Given the description of an element on the screen output the (x, y) to click on. 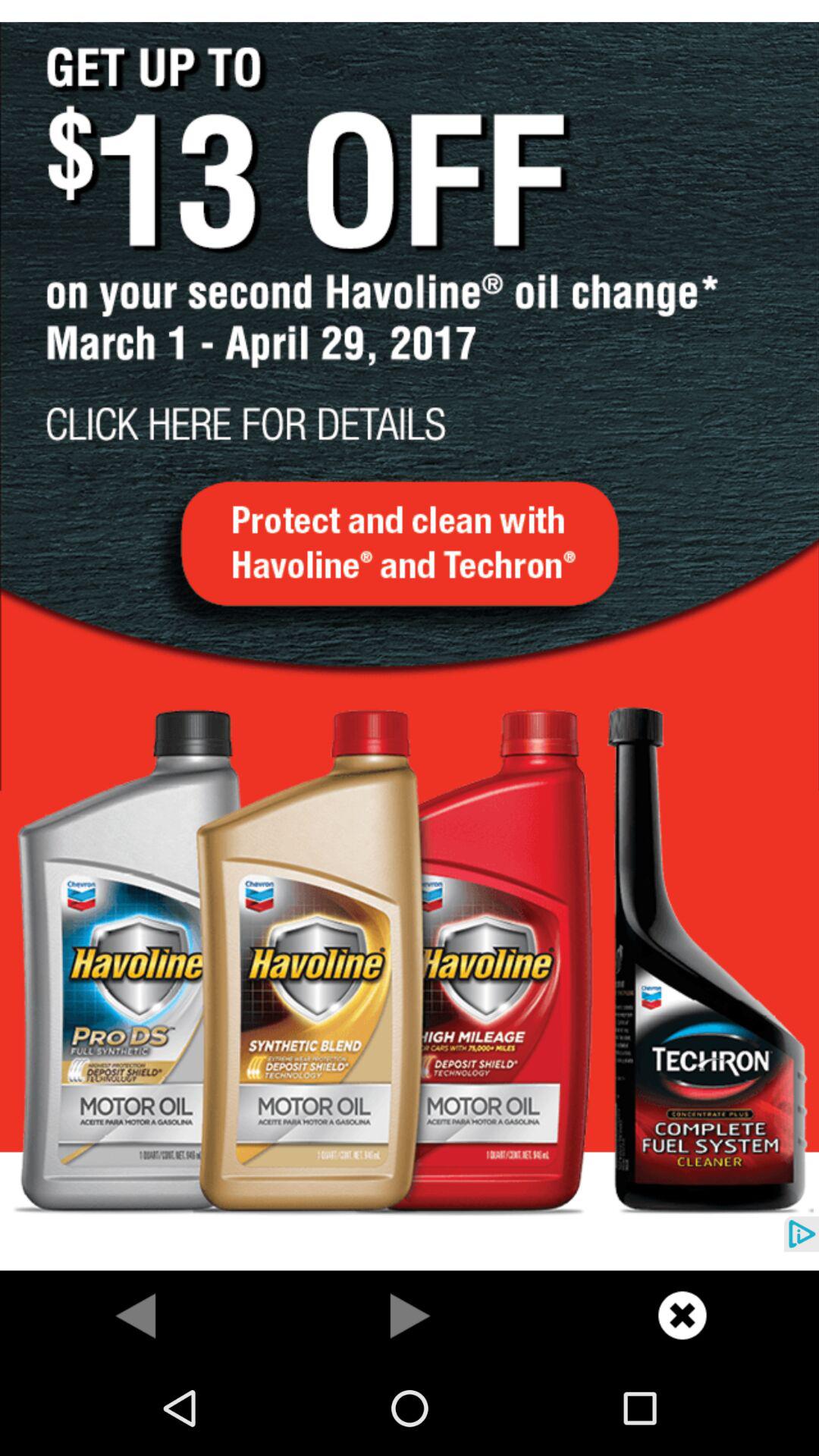
go to previous (136, 1315)
